Given the description of an element on the screen output the (x, y) to click on. 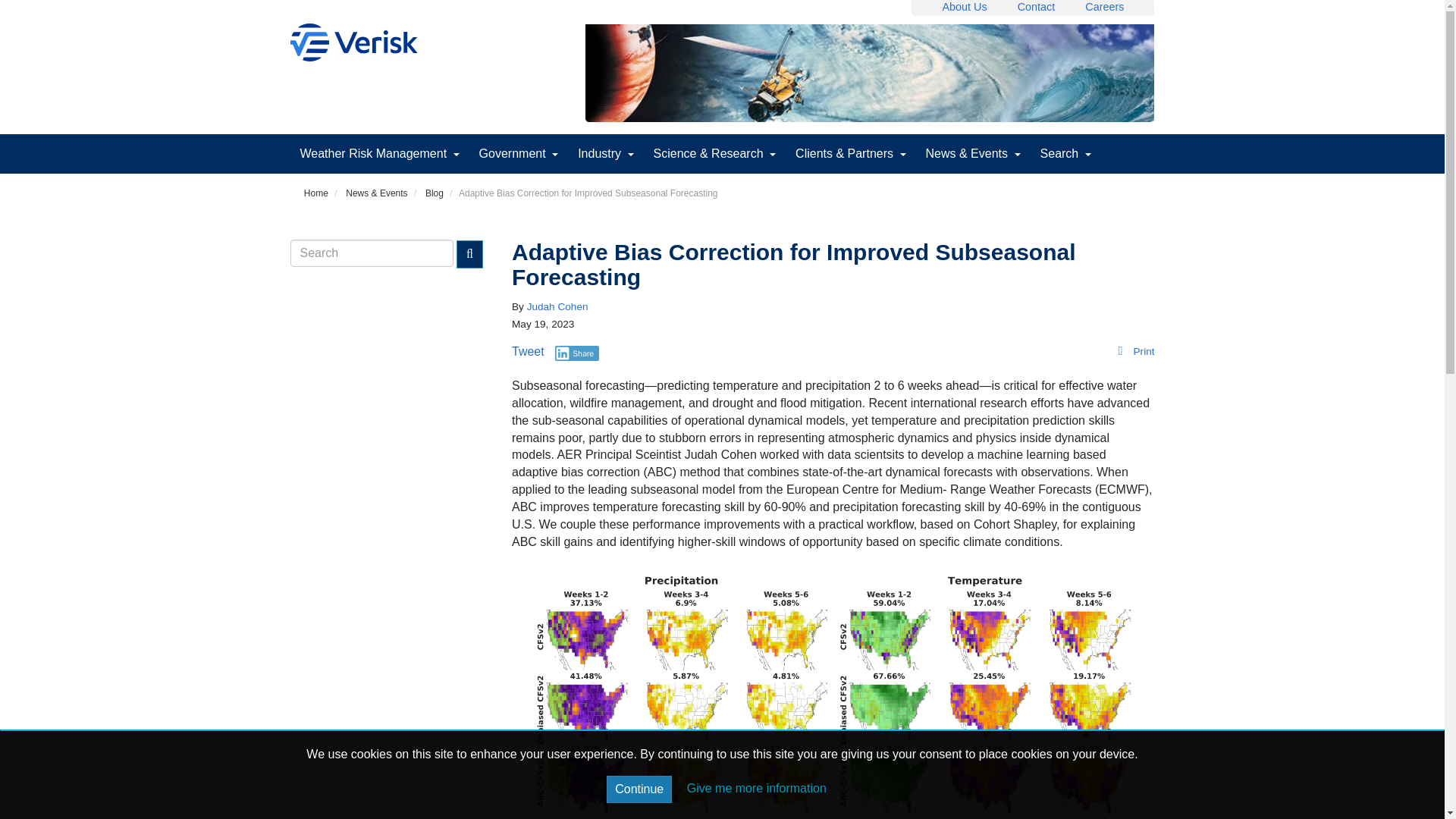
Contact (1036, 6)
Government (518, 153)
search (370, 252)
About Us (964, 6)
About Us (964, 6)
Careers (1104, 6)
Weather Risk Management (378, 153)
Industry (605, 153)
